Given the description of an element on the screen output the (x, y) to click on. 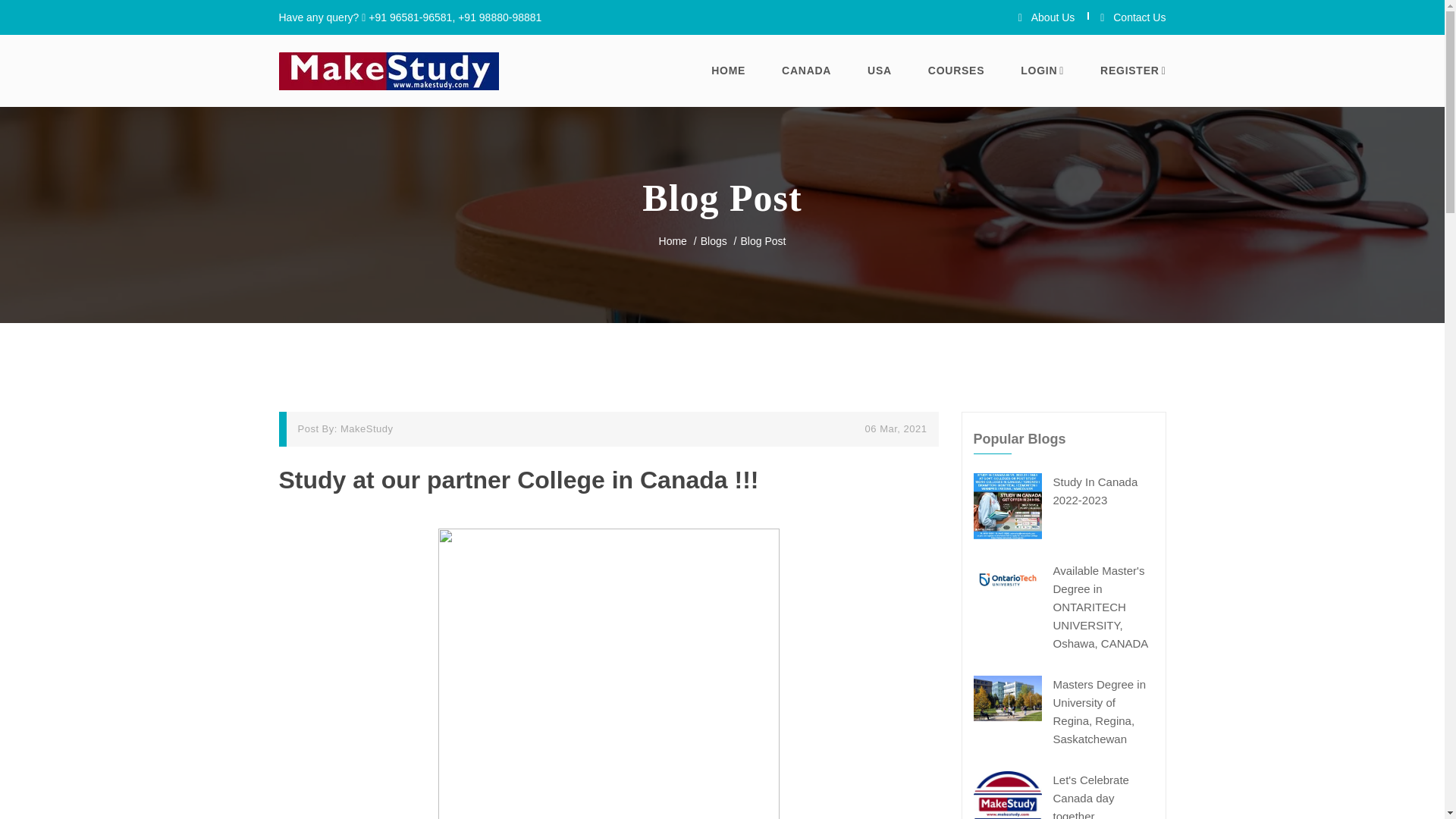
Contact Us (1133, 17)
REGISTER (1133, 71)
Home (673, 241)
Blogs (713, 241)
About Us (1046, 17)
MakeStudy (366, 428)
